Given the description of an element on the screen output the (x, y) to click on. 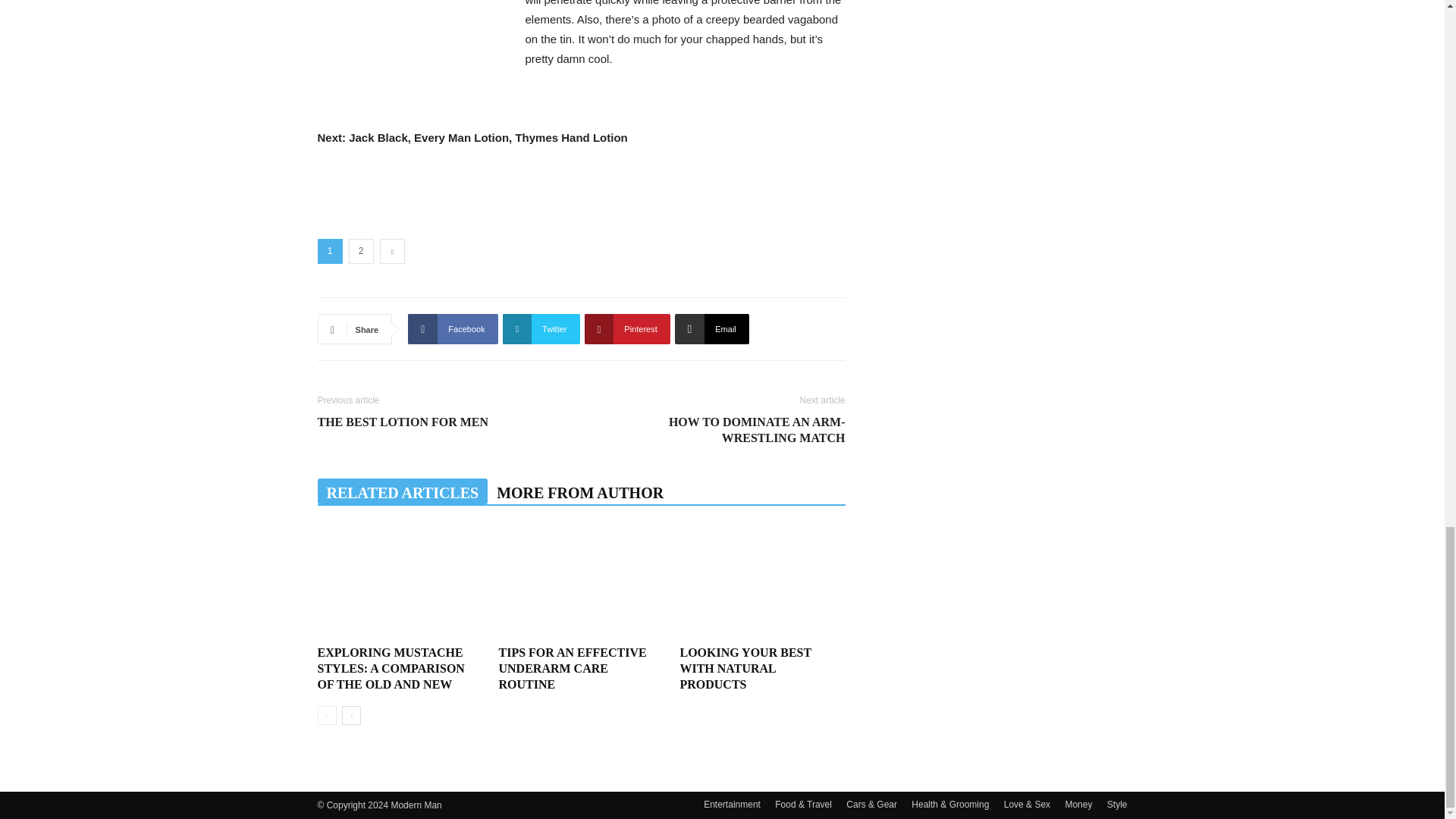
Exploring mustache styles: A comparison of the old and new (399, 582)
Exploring mustache styles: A comparison of the old and new (390, 668)
Tips for an Effective Underarm Care Routine (571, 668)
Tips for an Effective Underarm Care Routine (580, 582)
